Given the description of an element on the screen output the (x, y) to click on. 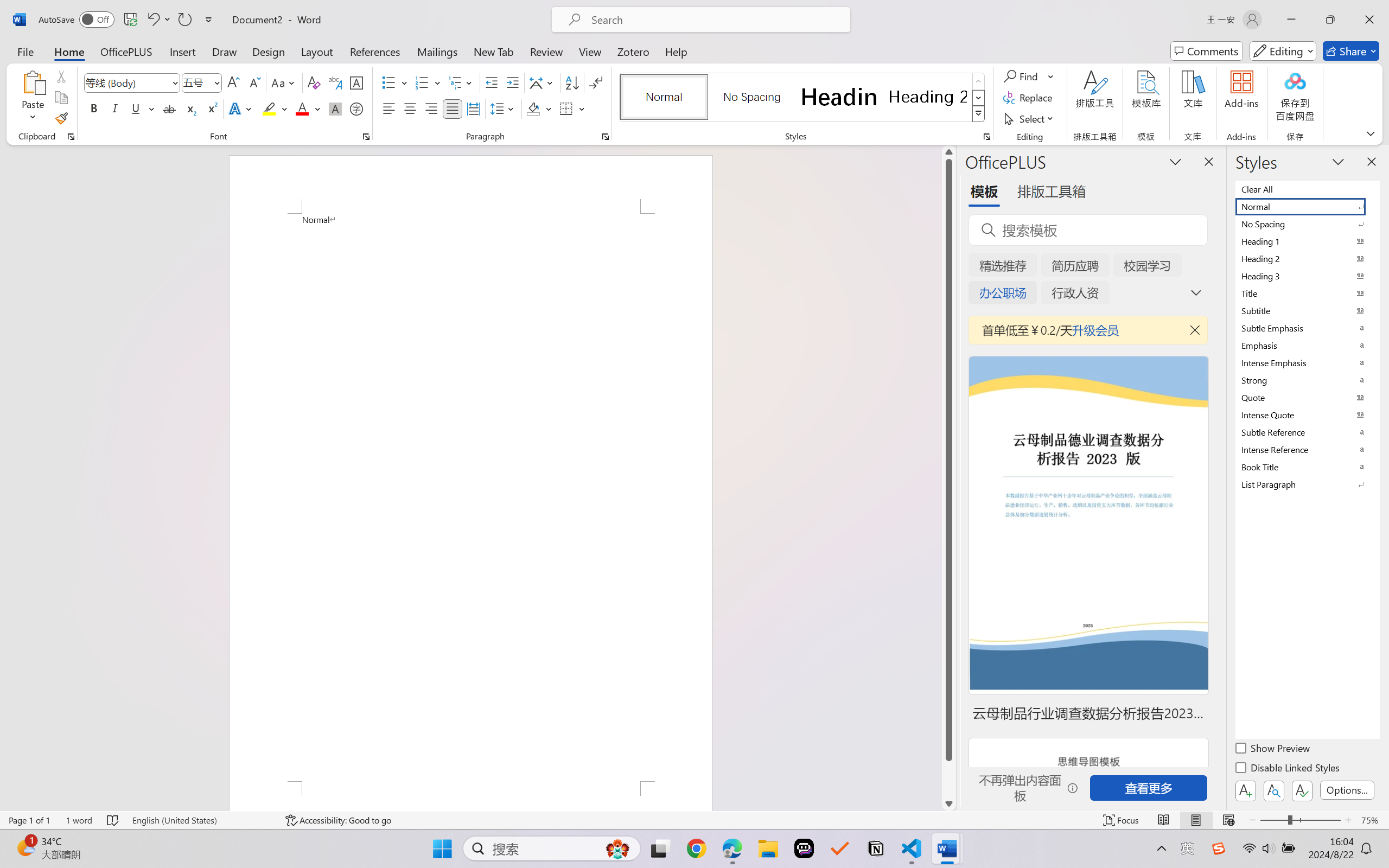
Intense Reference (1306, 449)
Text Highlight Color Yellow (269, 108)
Heading 1 (839, 96)
Paragraph... (605, 136)
Title (1306, 293)
Font... (365, 136)
Minimize (1291, 19)
Show/Hide Editing Marks (595, 82)
Subscript (190, 108)
Text Effects and Typography (241, 108)
Asian Layout (542, 82)
Font Color Red (302, 108)
